Given the description of an element on the screen output the (x, y) to click on. 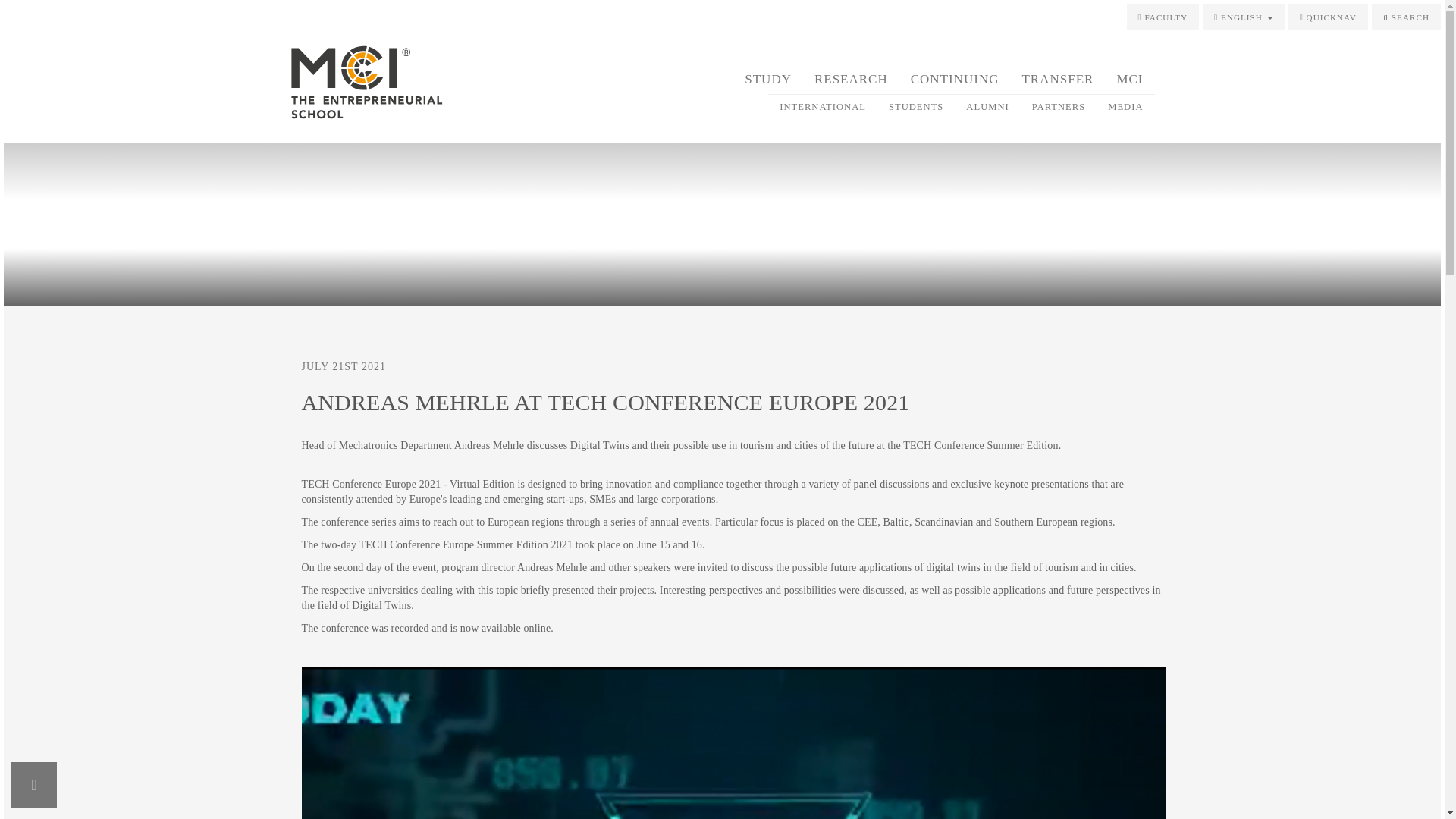
FACULTY (1162, 17)
ENGLISH (1243, 17)
QUICKNAV (1328, 17)
STUDY (768, 79)
RESEARCH (851, 79)
